Given the description of an element on the screen output the (x, y) to click on. 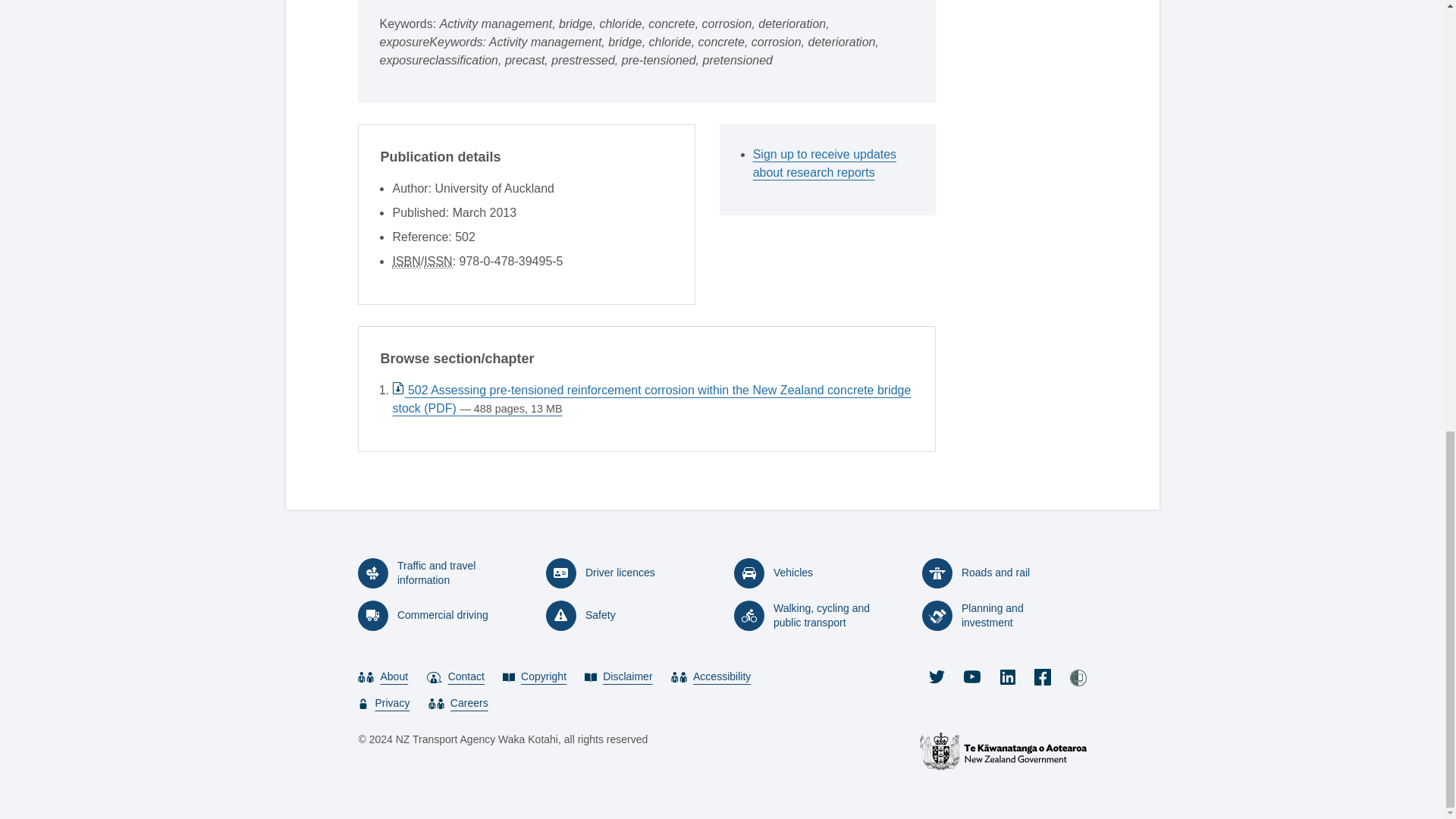
Sign up to receive updates about research reports (833, 163)
International Standard Serial Number (437, 261)
International Standard Book Number (405, 261)
